Given the description of an element on the screen output the (x, y) to click on. 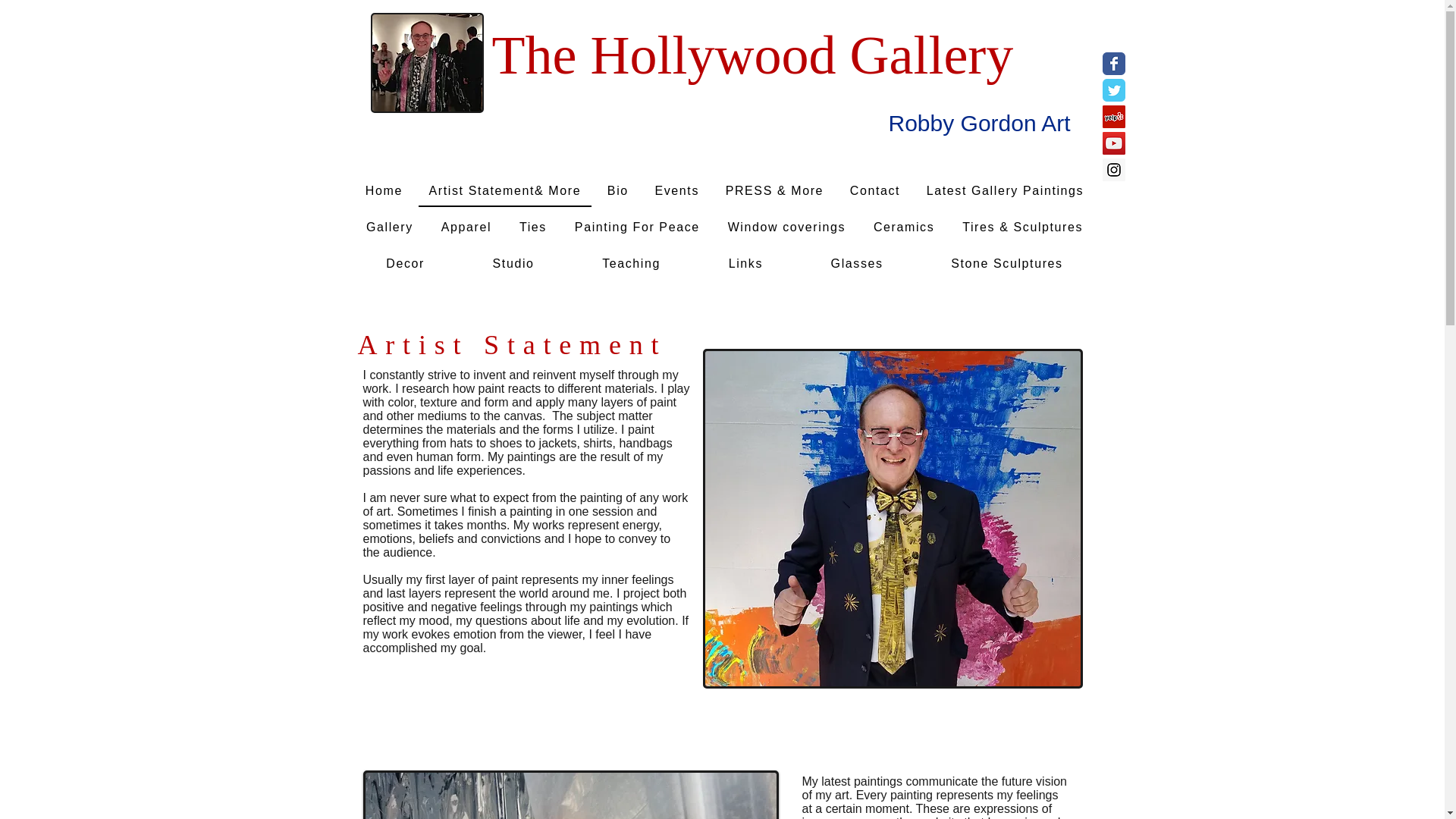
Contact (875, 191)
Latest Gallery Paintings (1004, 191)
Ties (532, 227)
Events (677, 191)
Ceramics (903, 227)
Bio (617, 191)
Window coverings (786, 227)
Decor (404, 264)
the hollywood gallery (426, 63)
Gallery (389, 227)
